Given the description of an element on the screen output the (x, y) to click on. 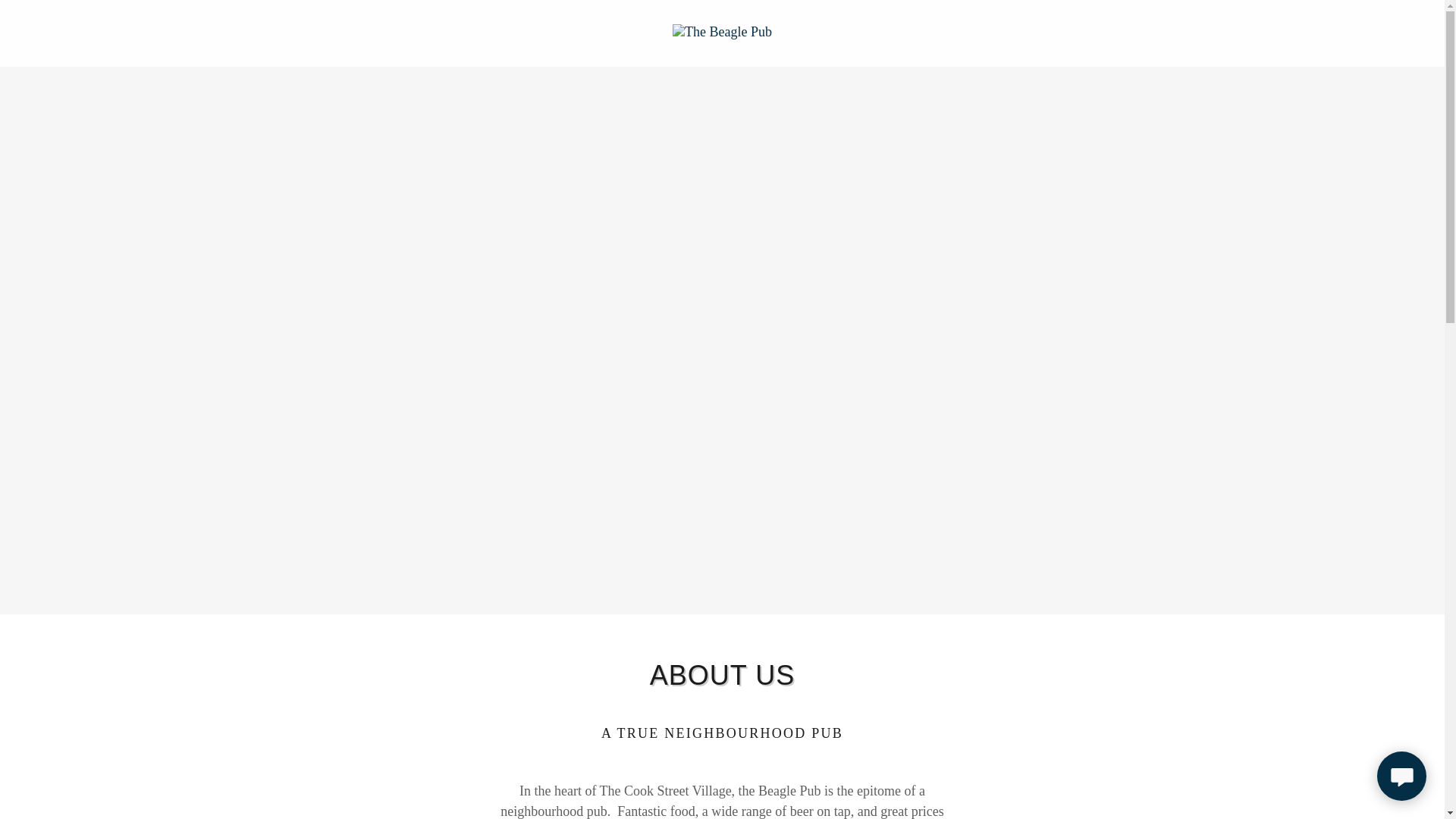
The Beagle Pub Element type: hover (721, 30)
